Given the description of an element on the screen output the (x, y) to click on. 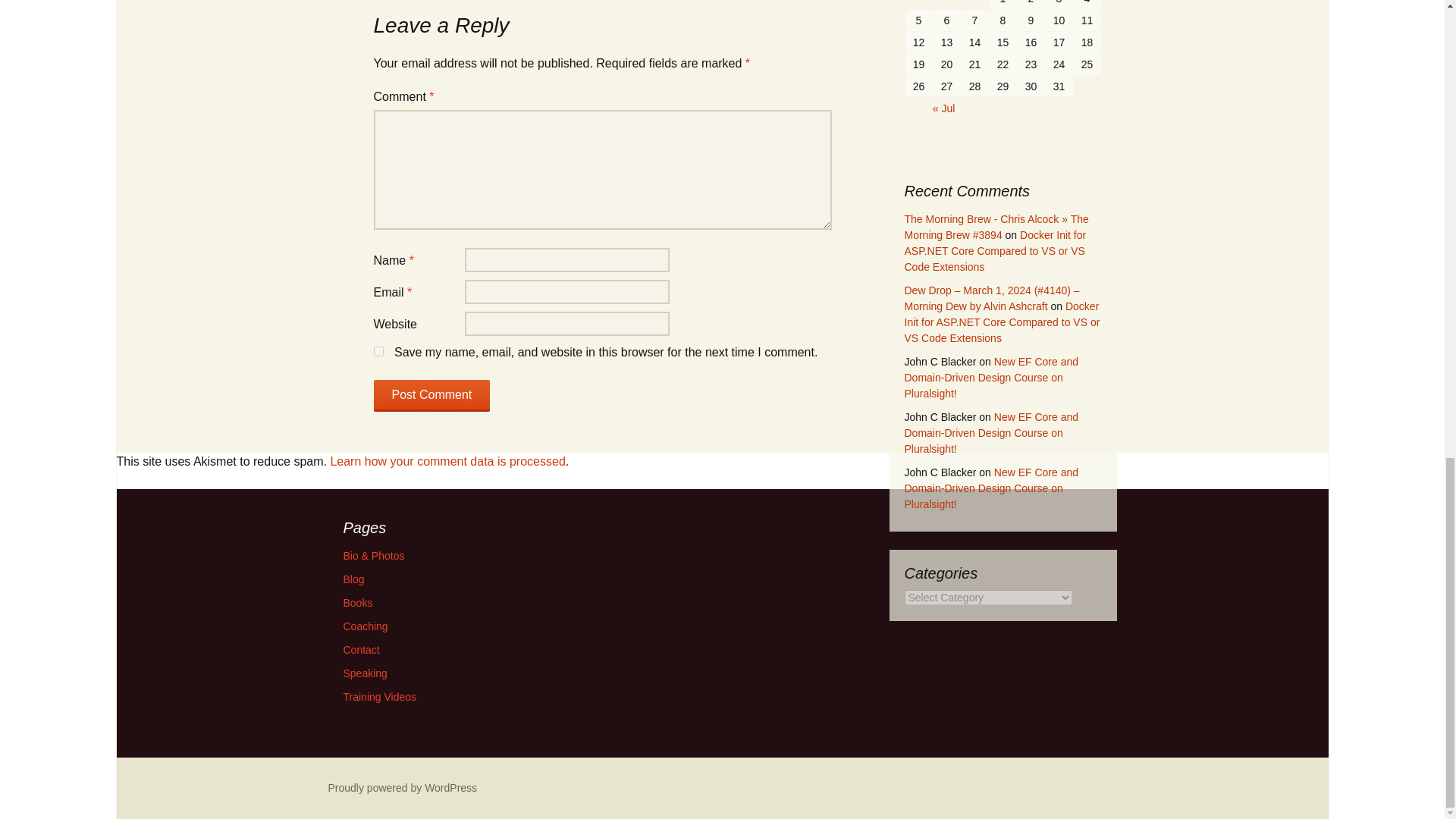
Post Comment (430, 395)
Post Comment (430, 395)
yes (377, 351)
Learn how your comment data is processed (447, 461)
